Given the description of an element on the screen output the (x, y) to click on. 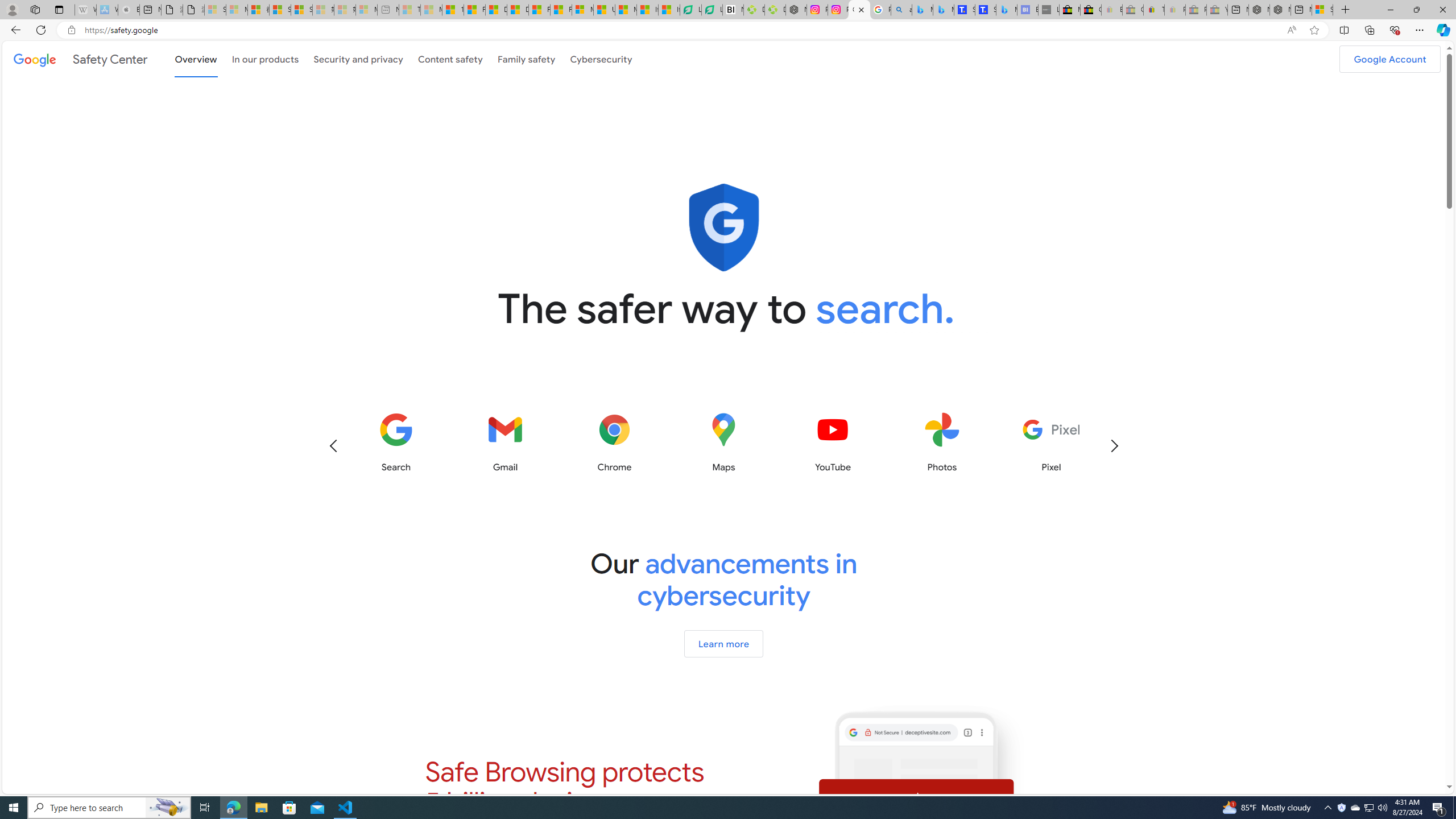
Google Account (1389, 58)
Family safety (526, 58)
US Heat Deaths Soared To Record High Last Year (604, 9)
Microsoft Bing Travel - Shangri-La Hotel Bangkok (1006, 9)
